Given the description of an element on the screen output the (x, y) to click on. 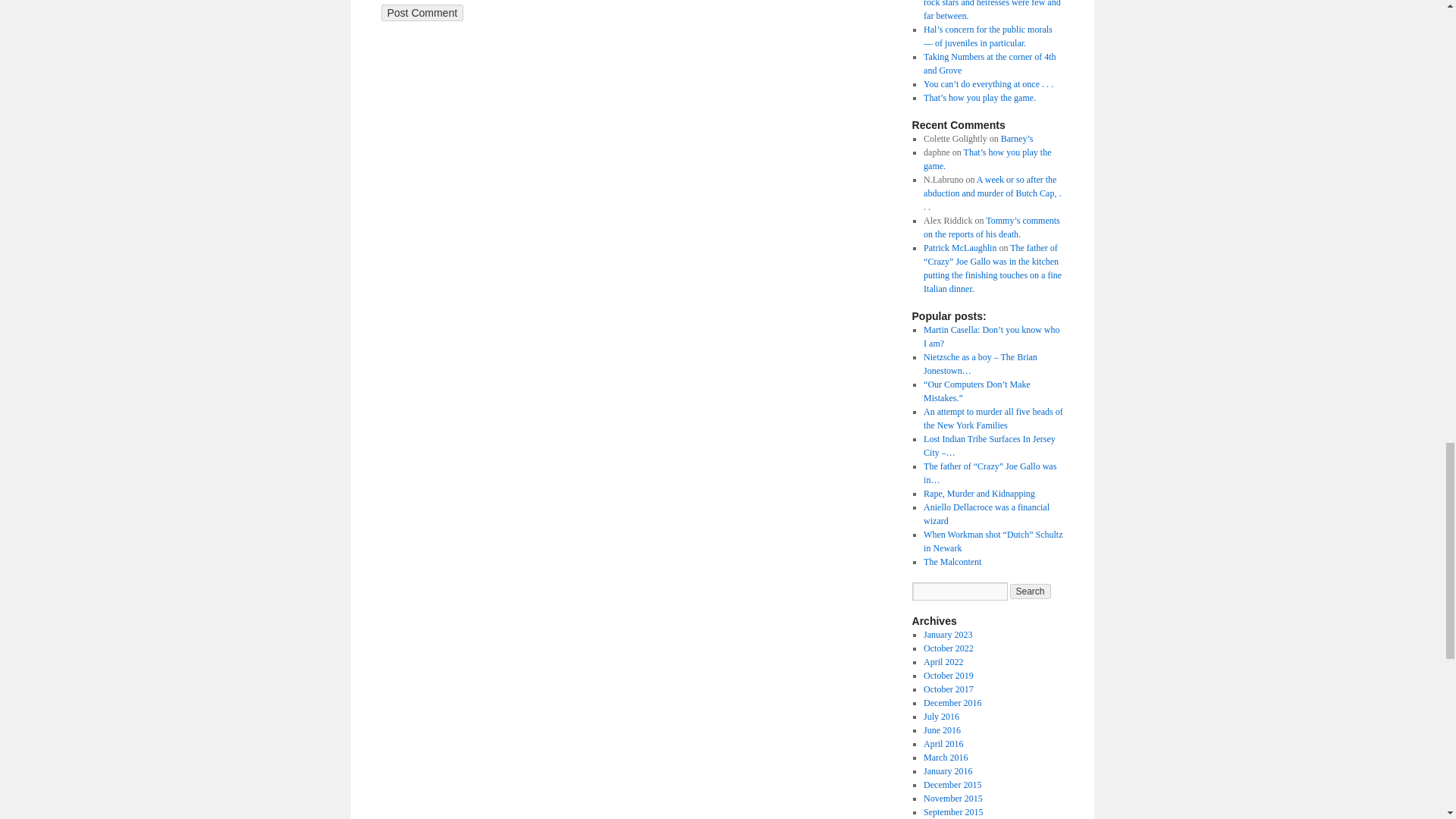
Search (1030, 590)
Post Comment (421, 12)
Post Comment (421, 12)
